Given the description of an element on the screen output the (x, y) to click on. 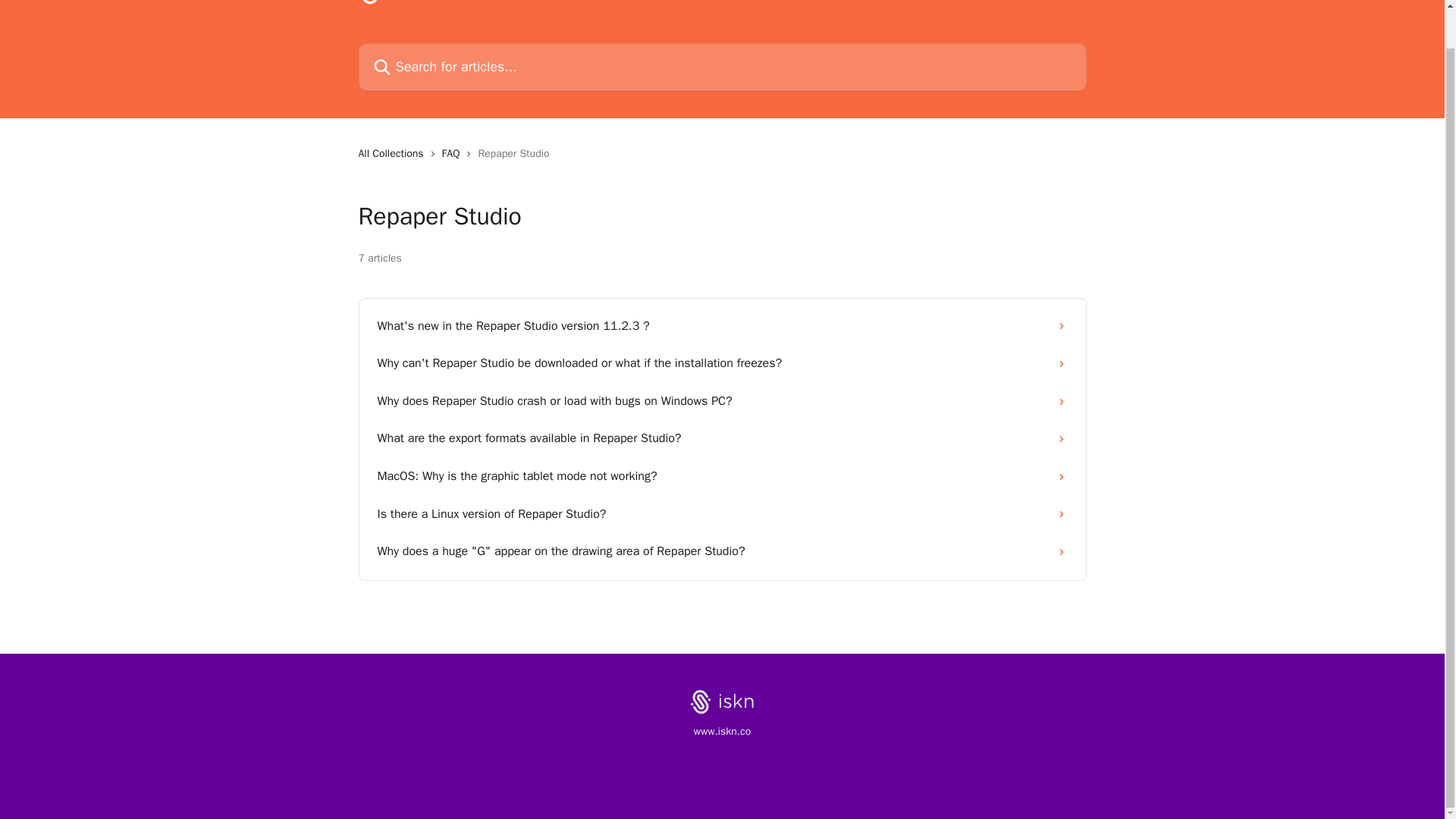
FAQ (453, 153)
What are the export formats available in Repaper Studio? (722, 438)
What's new in the Repaper Studio version 11.2.3 ? (722, 326)
MacOS: Why is the graphic tablet mode not working? (722, 476)
Is there a Linux version of Repaper Studio? (722, 514)
All Collections (393, 153)
